Given the description of an element on the screen output the (x, y) to click on. 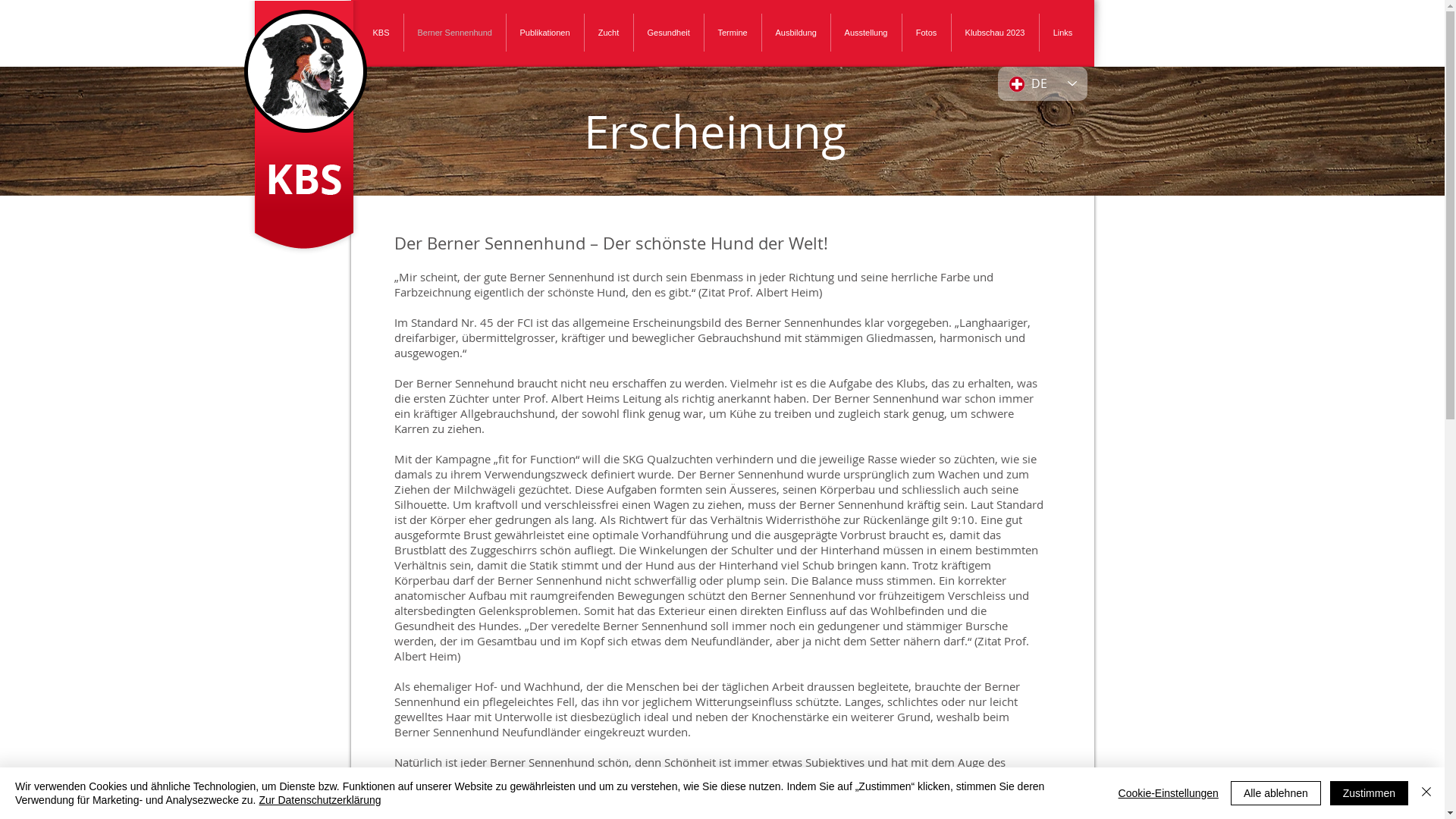
Alle ablehnen Element type: text (1275, 793)
Ausbildung Element type: text (795, 32)
Links Element type: text (1061, 32)
Gesundheit Element type: text (668, 32)
Publikationen Element type: text (544, 32)
Termine Element type: text (731, 32)
Berner Sennenhund Element type: text (454, 32)
Zustimmen Element type: text (1369, 793)
KBS Element type: text (381, 32)
Ausstellung Element type: text (866, 32)
Zucht Element type: text (607, 32)
Klubschau 2023 Element type: text (994, 32)
Fotos Element type: text (926, 32)
